Given the description of an element on the screen output the (x, y) to click on. 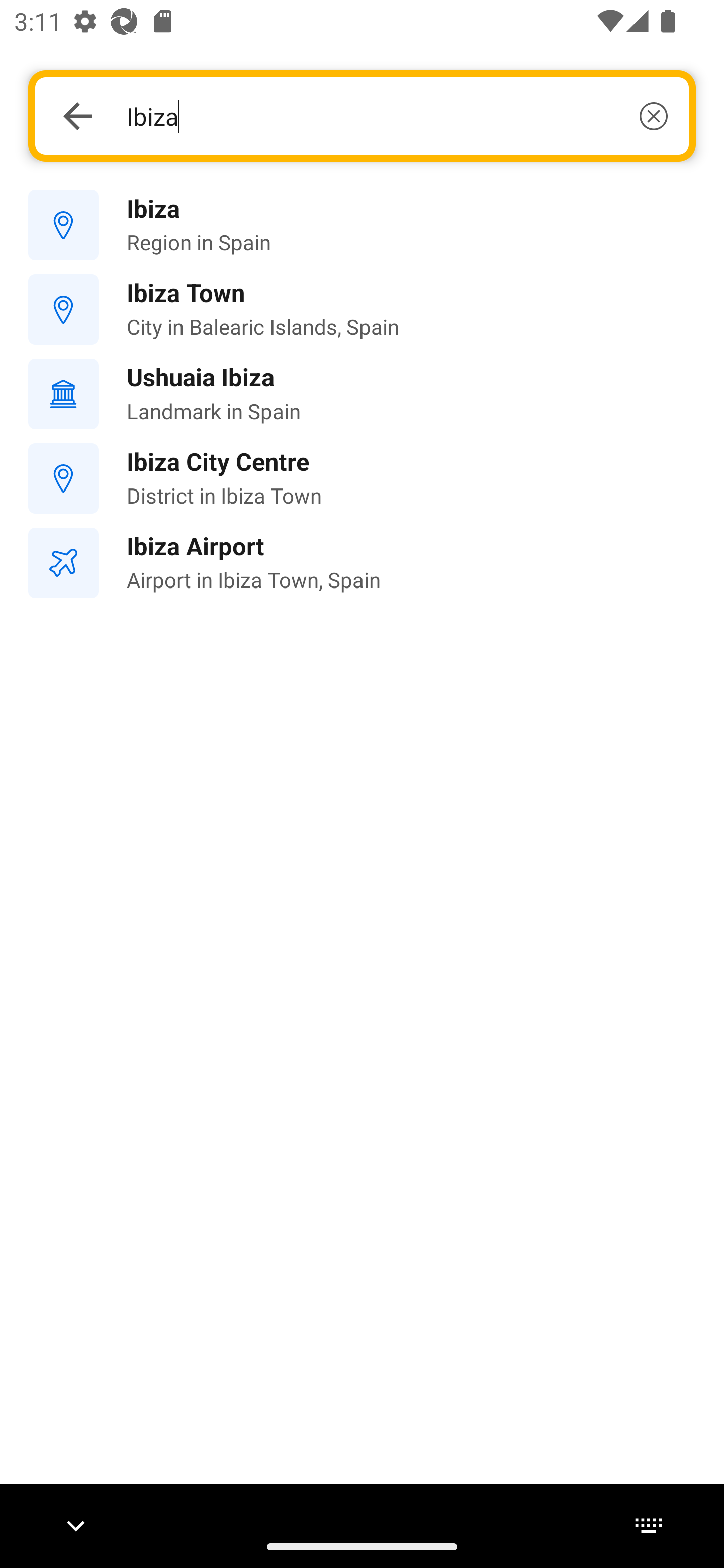
Ibiza (396, 115)
Ibiza Region in Spain (362, 225)
Ibiza Town City in Balearic Islands, Spain (362, 309)
Ushuaia Ibiza Landmark in Spain (362, 393)
Ibiza City Centre District in Ibiza Town (362, 477)
Ibiza Airport Airport in Ibiza Town, Spain (362, 562)
